Given the description of an element on the screen output the (x, y) to click on. 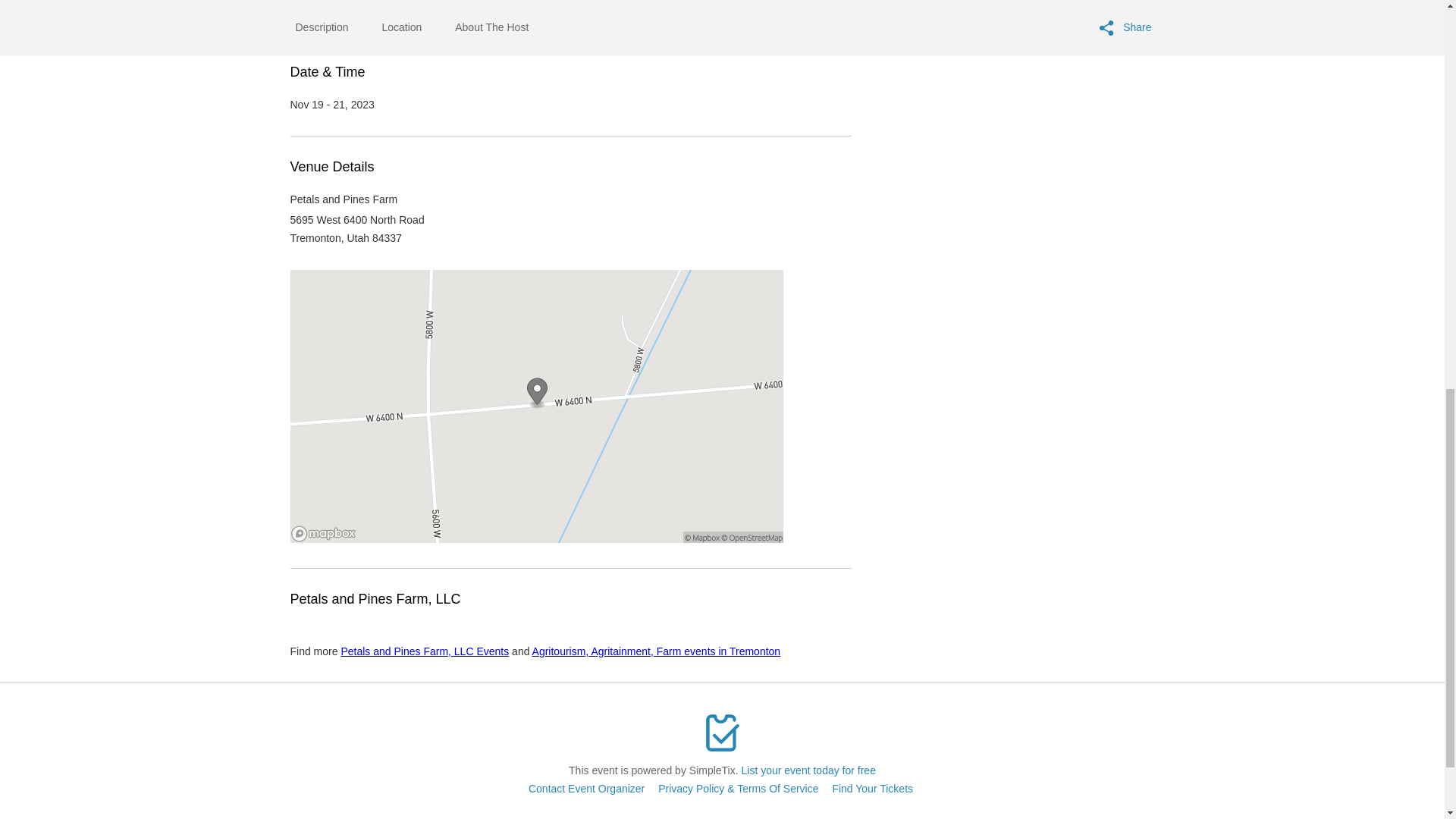
Petals and Pines Farm, LLC Events (424, 651)
List your event today for free (808, 770)
Contact Event Organizer (586, 788)
Agritourism, Agritainment, Farm events in Tremonton (656, 651)
Contact Event Organizer (586, 788)
Find Your Tickets (871, 788)
Find Your Tickets (871, 788)
List your event today for free (808, 770)
Powered by SimpleTix (721, 732)
